Given the description of an element on the screen output the (x, y) to click on. 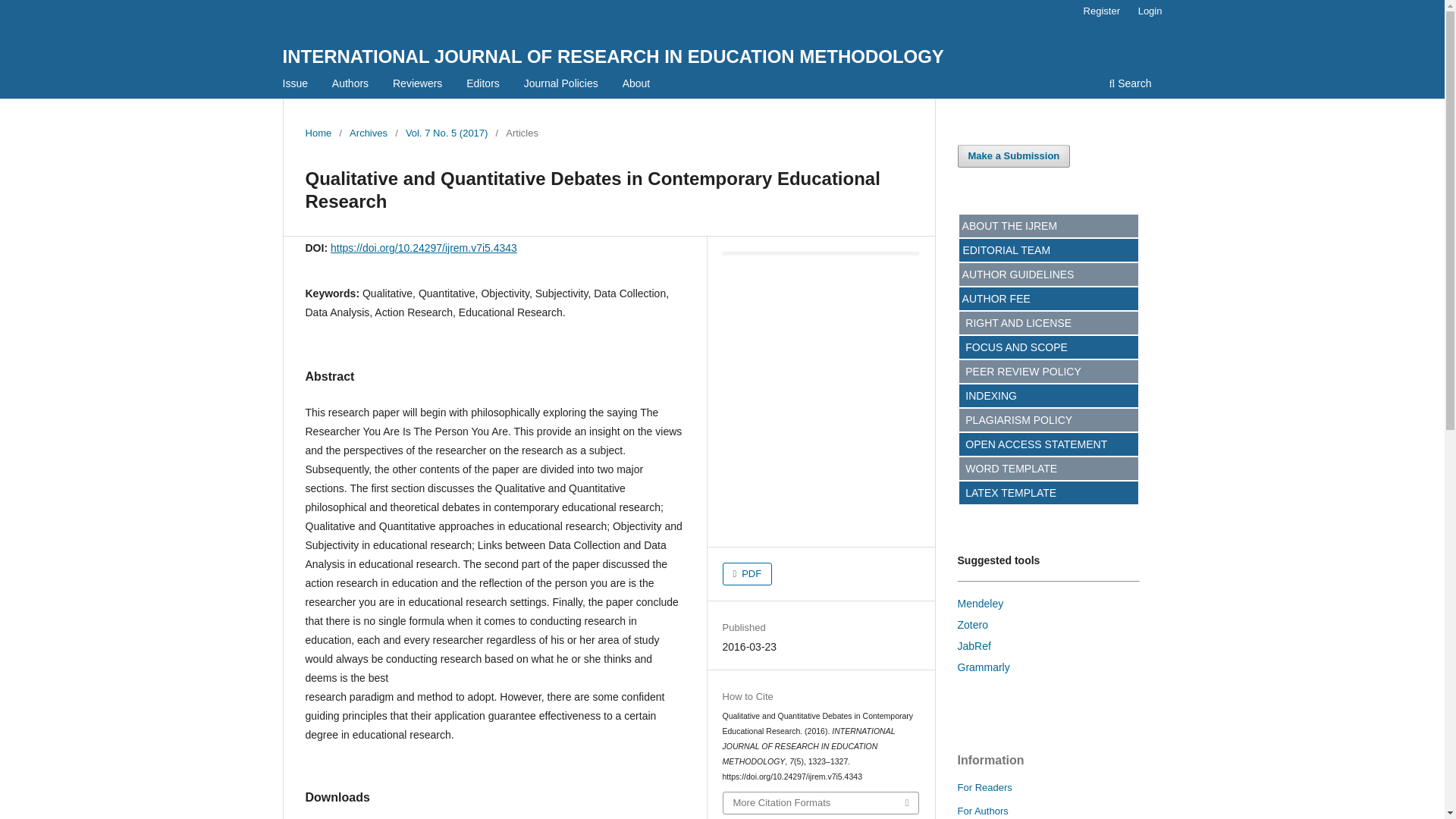
Authors (350, 85)
LATEX TEMPLATE (1008, 492)
MSWORD TEMPLATE (1008, 468)
Issue (295, 85)
Home (317, 133)
Search (1129, 85)
Login (1150, 11)
Reviewers (416, 85)
Editors (483, 85)
Archives (368, 133)
